Given the description of an element on the screen output the (x, y) to click on. 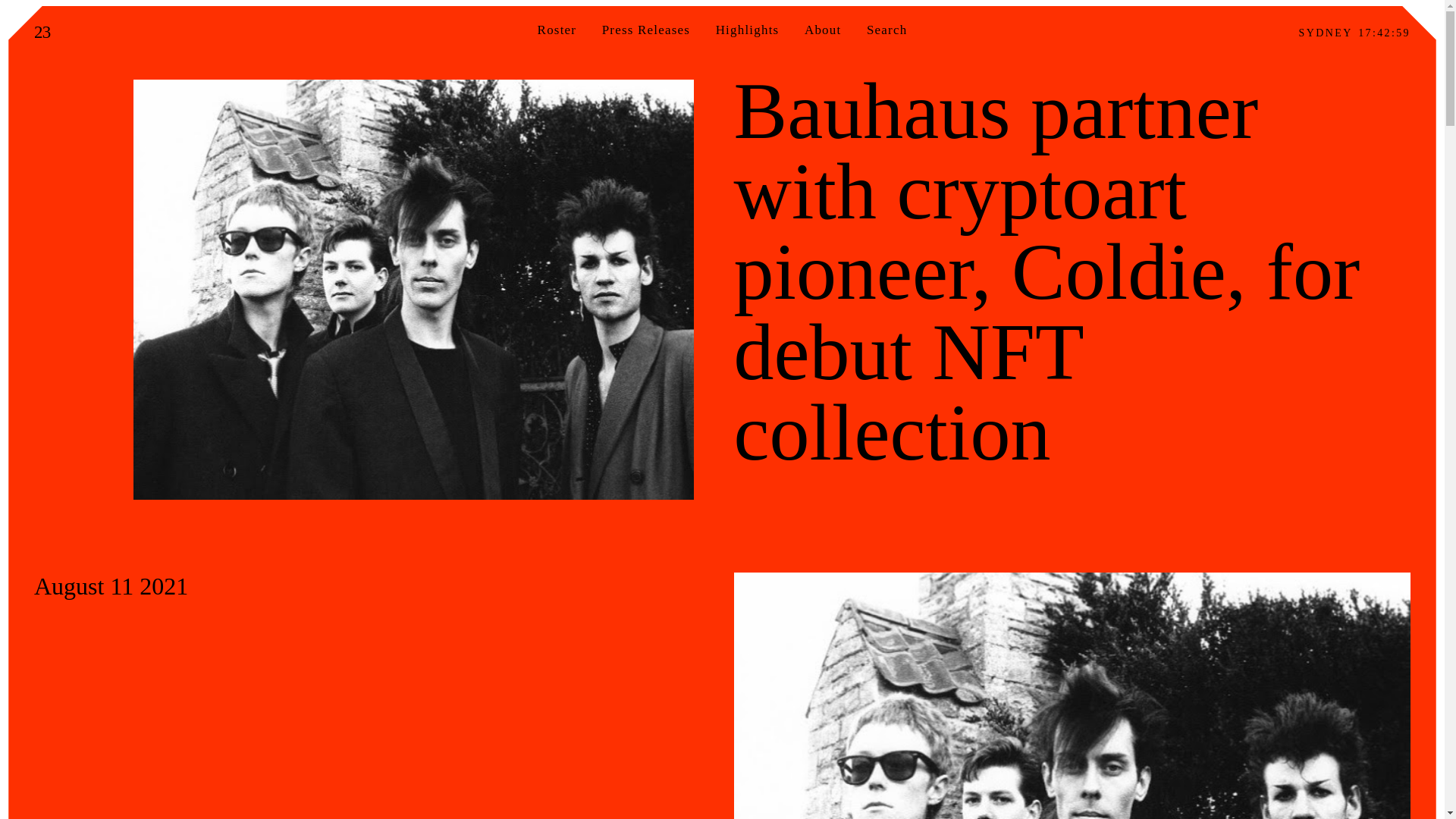
Highlights (747, 29)
Search (98, 6)
Search (886, 29)
23 (41, 31)
About (823, 29)
Roster (556, 29)
Press Releases (646, 29)
